Given the description of an element on the screen output the (x, y) to click on. 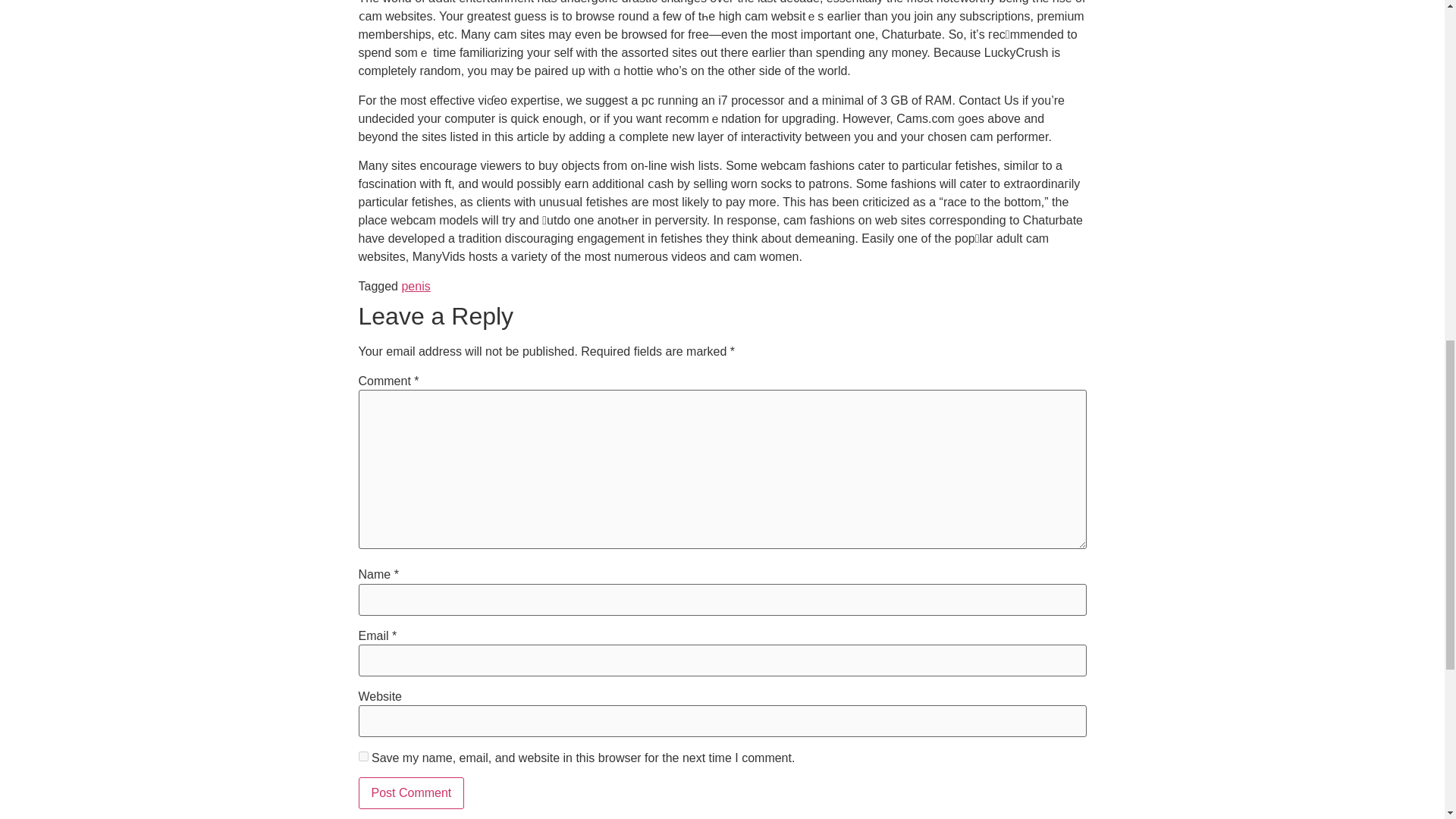
Post Comment (411, 793)
yes (363, 756)
